Given the description of an element on the screen output the (x, y) to click on. 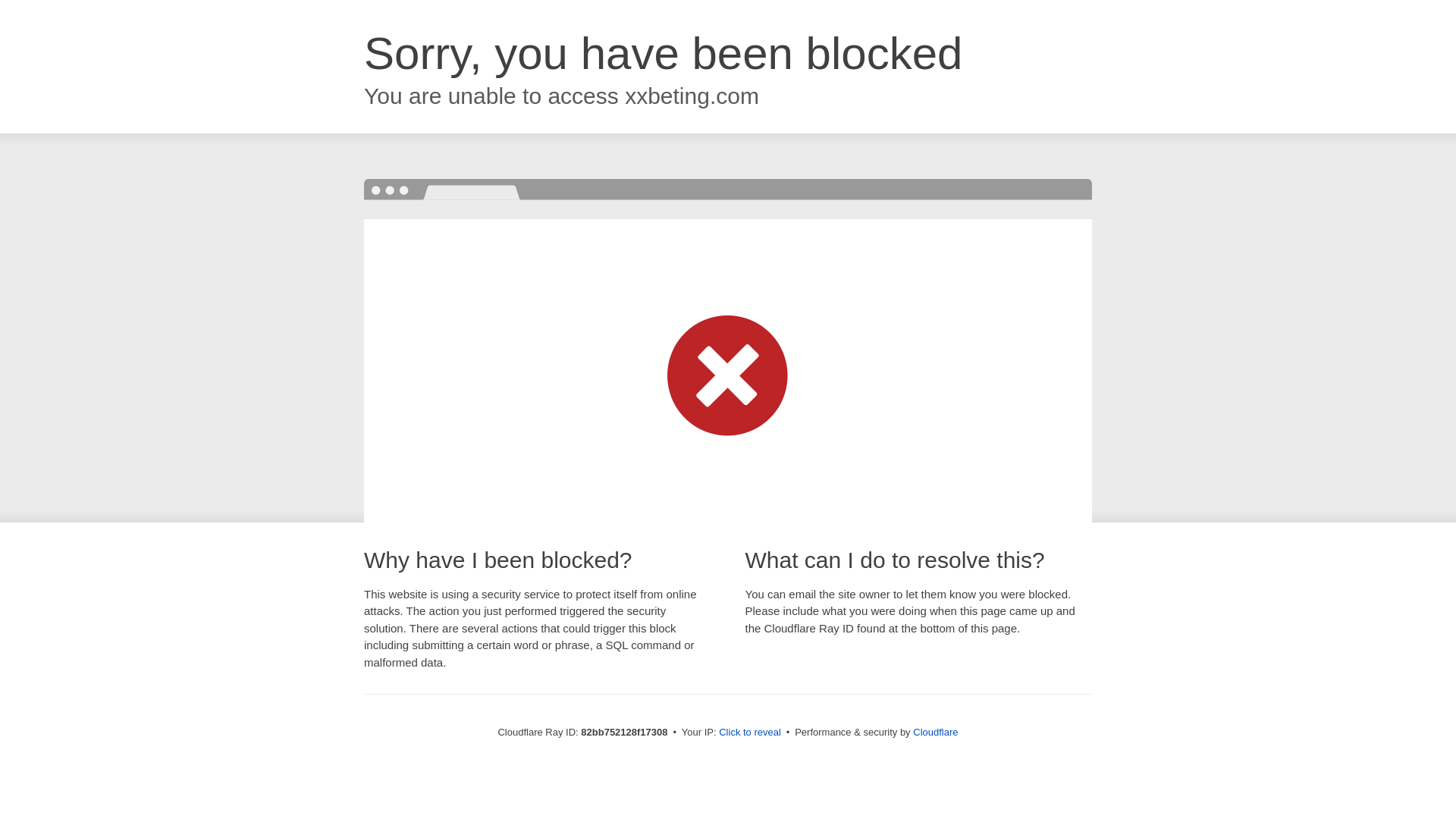
Cloudflare Element type: text (935, 731)
Click to reveal Element type: text (749, 732)
